Given the description of an element on the screen output the (x, y) to click on. 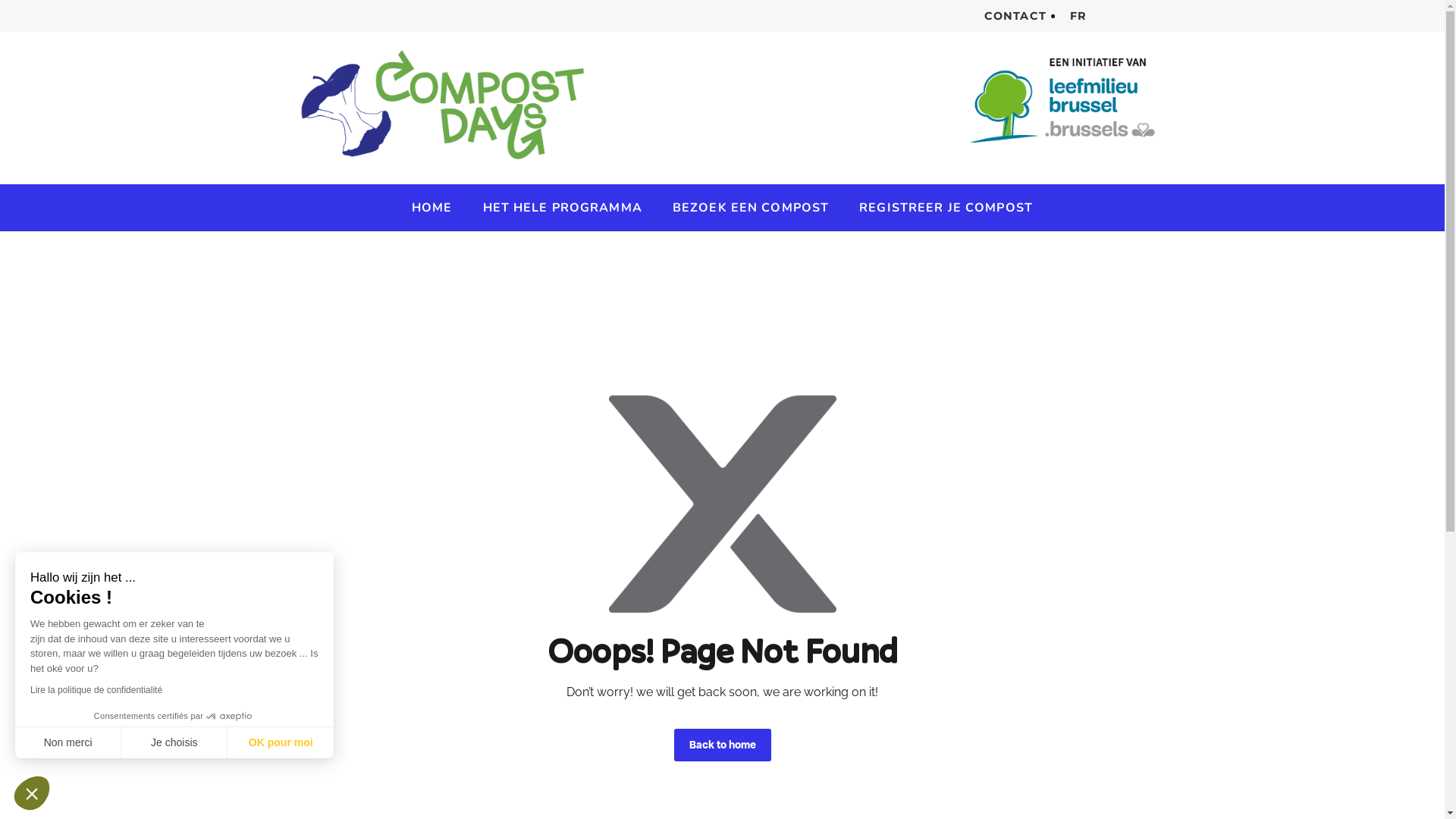
Sluit de widget zonder cookie-instellingen te accepteren Element type: hover (31, 793)
BEZOEK EEN COMPOST Element type: text (750, 207)
REGISTREER JE COMPOST Element type: text (946, 207)
OK pour moi Element type: text (280, 742)
CONTACT Element type: text (1015, 15)
HET HELE PROGRAMMA Element type: text (562, 207)
Non merci Element type: text (68, 742)
HOME Element type: text (431, 207)
FR Element type: text (1082, 15)
Back to home Element type: text (721, 744)
Je choisis Element type: text (174, 742)
